Given the description of an element on the screen output the (x, y) to click on. 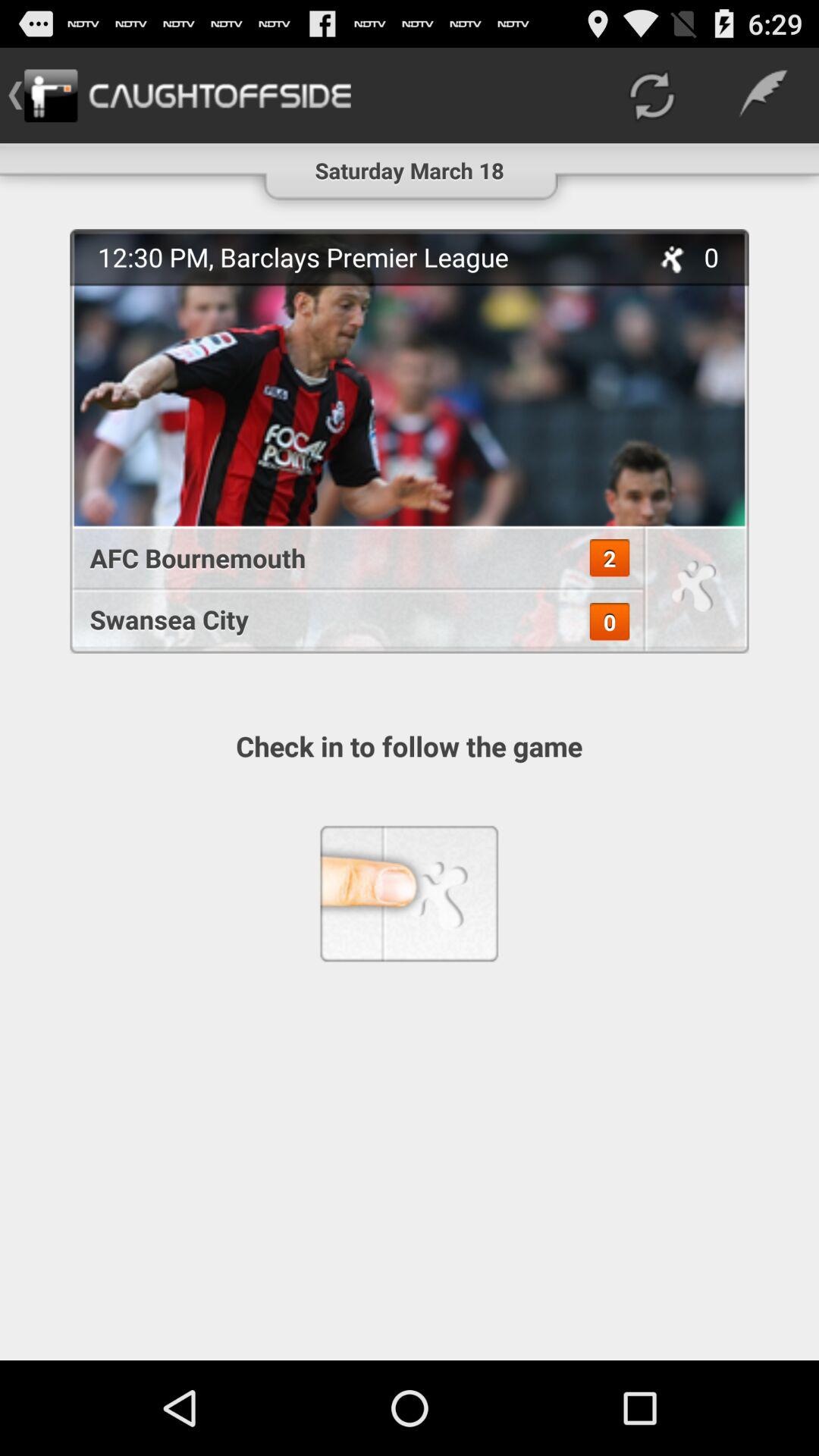
open the app below the saturday march 18 icon (409, 441)
